Given the description of an element on the screen output the (x, y) to click on. 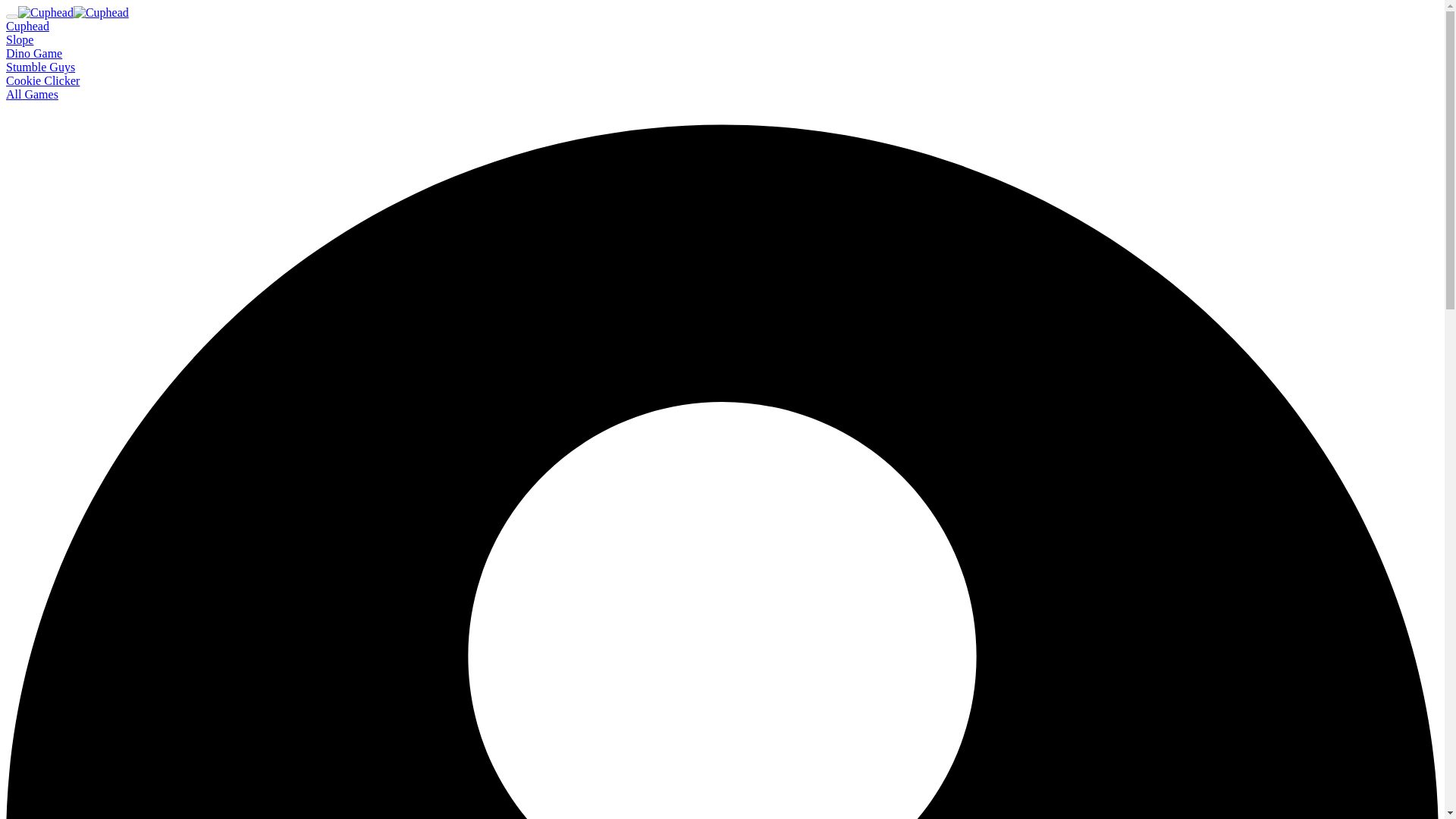
All Games (31, 93)
Slope (19, 39)
Stumble Guys (40, 66)
Cookie Clicker (42, 80)
Dino Game (33, 52)
Cuphead (27, 25)
Dino Game (33, 52)
Stumble Guys (40, 66)
Cuphead (27, 25)
Slope (19, 39)
